Given the description of an element on the screen output the (x, y) to click on. 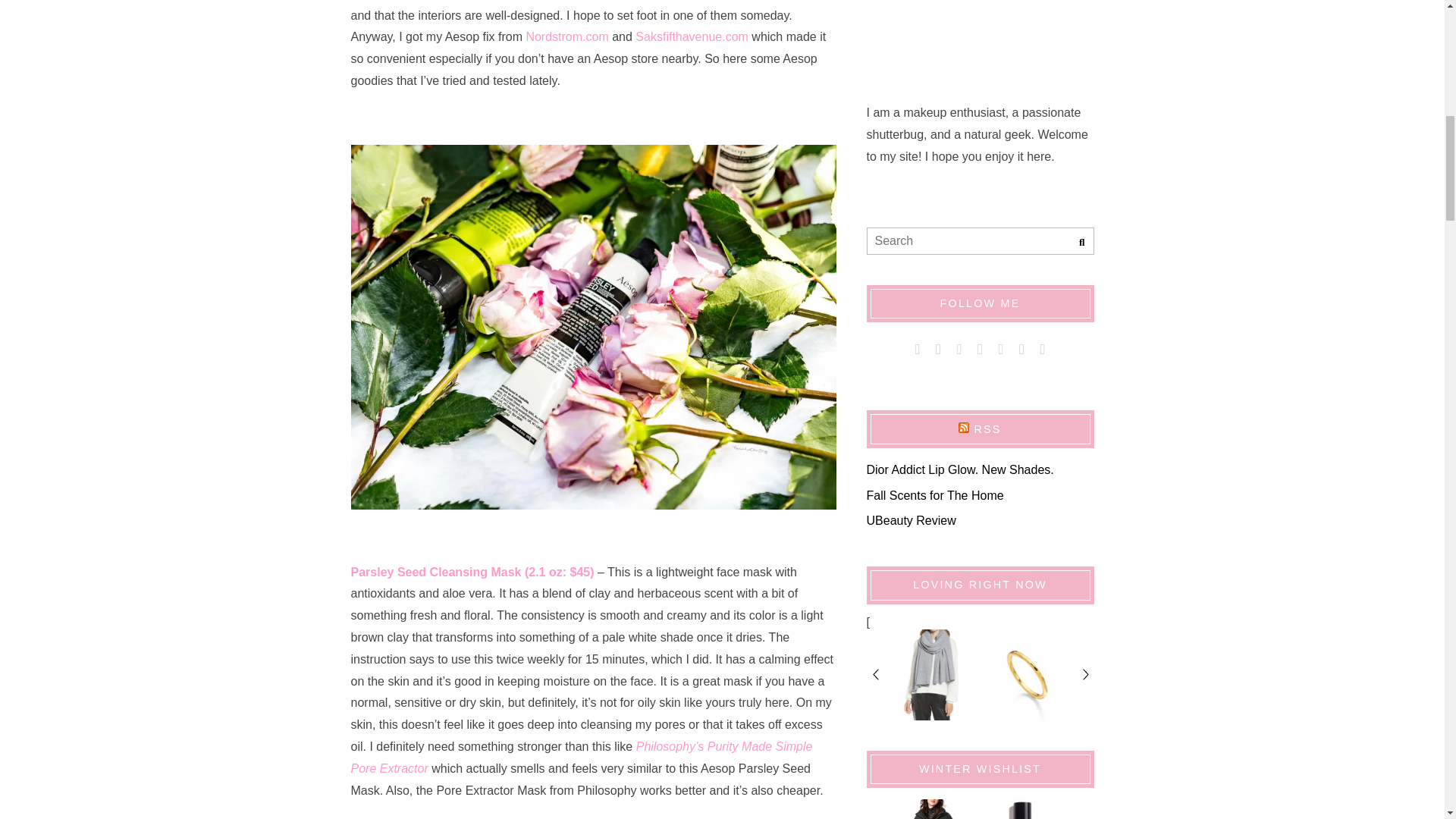
Saksfifthavenue.com (691, 36)
Nordstrom.com (566, 36)
Advertisement (979, 39)
